Given the description of an element on the screen output the (x, y) to click on. 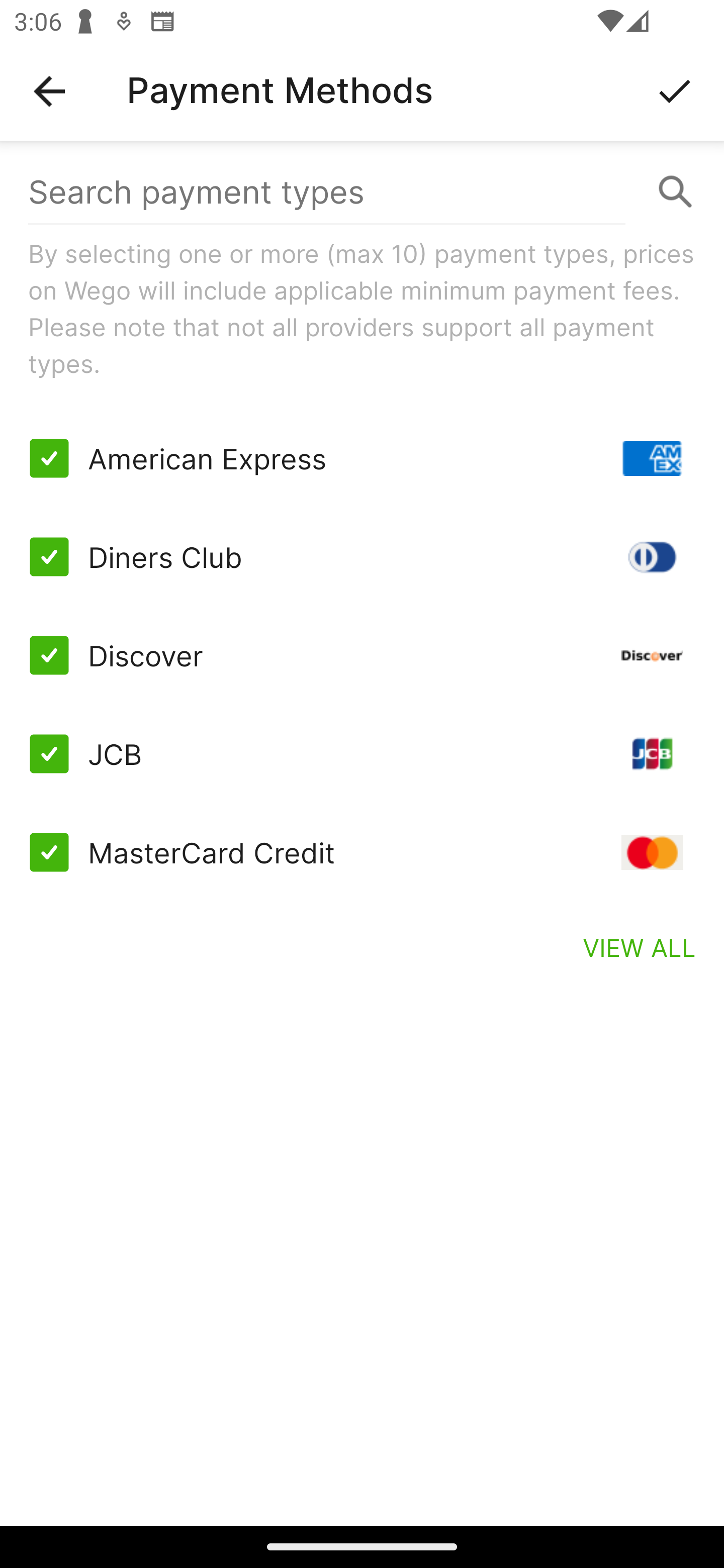
Search payment types  (361, 191)
American Express (362, 458)
Diners Club (362, 557)
Discover (362, 655)
JCB (362, 753)
MasterCard Credit (362, 851)
VIEW ALL (639, 946)
